Given the description of an element on the screen output the (x, y) to click on. 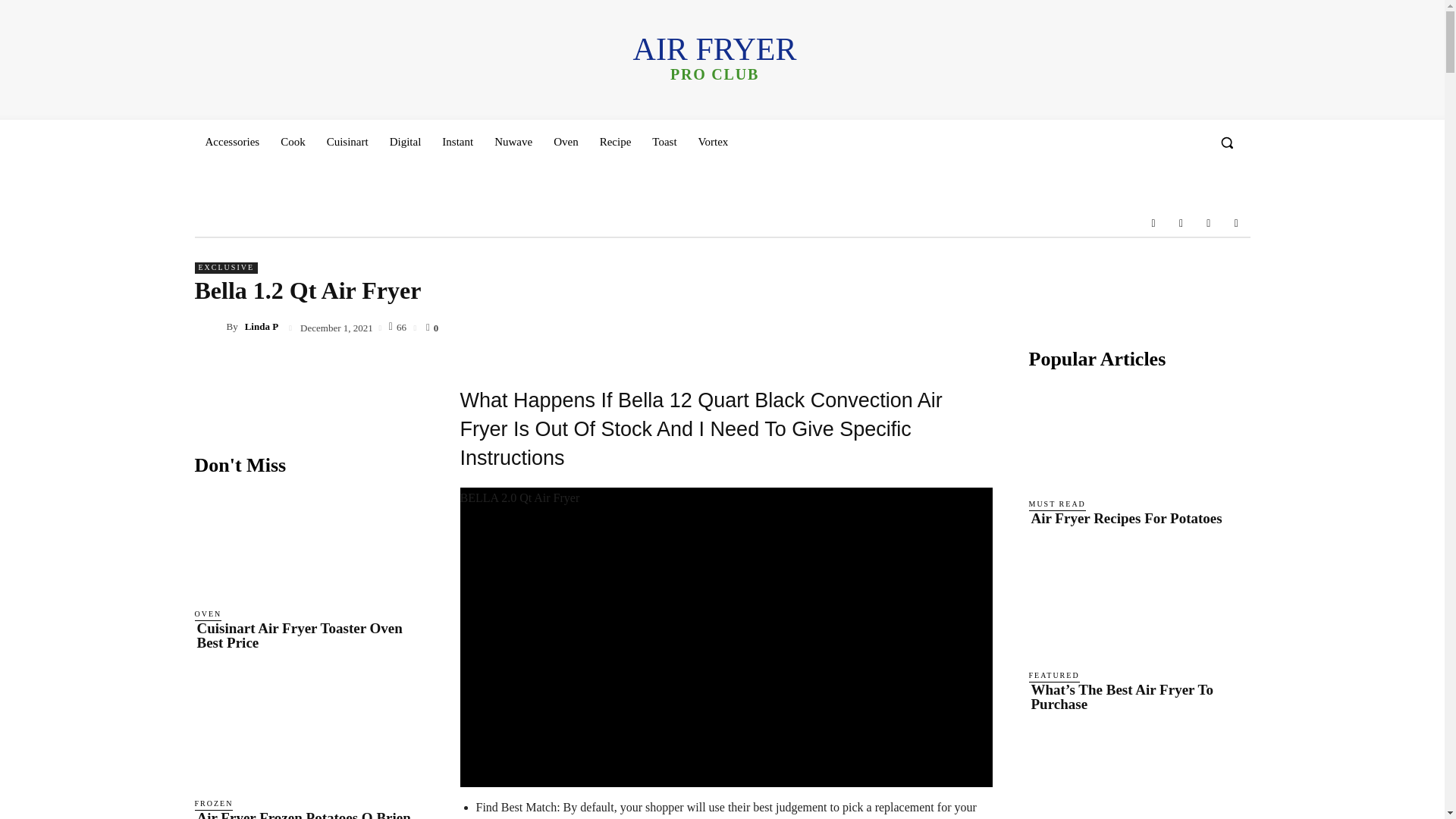
Nuwave (513, 141)
VKontakte (1209, 222)
Instant (456, 141)
Cook (292, 141)
Digital (405, 141)
Vortex (713, 141)
Recipe (615, 141)
Accessories (231, 141)
Toast (664, 141)
Cuisinart (346, 141)
